Given the description of an element on the screen output the (x, y) to click on. 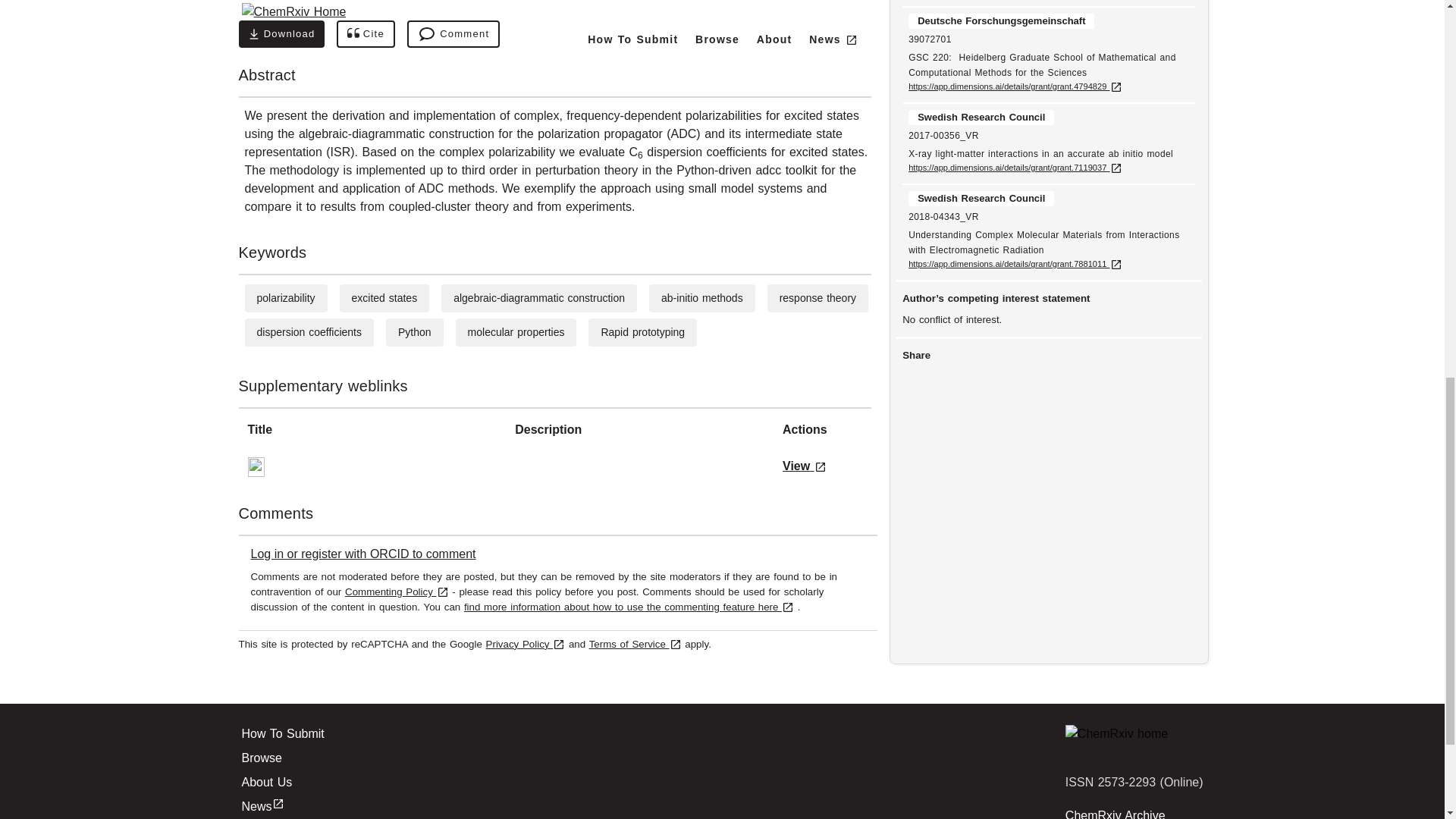
ab-initio methods (701, 297)
excited states (384, 297)
response theory (817, 297)
Download (280, 33)
Cite (365, 33)
View (805, 465)
dispersion coefficients (308, 331)
Comment (453, 33)
Python (413, 331)
molecular properties (515, 331)
